Given the description of an element on the screen output the (x, y) to click on. 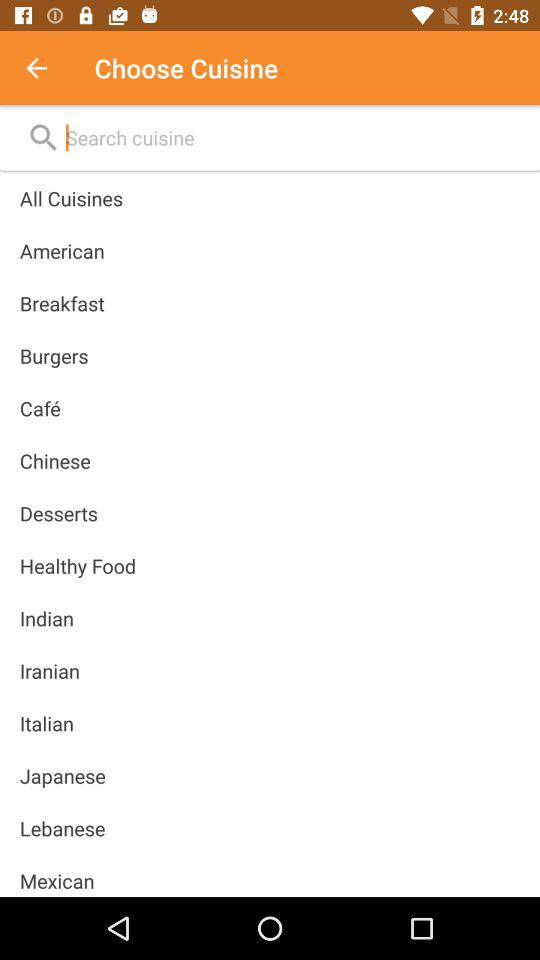
turn on the icon below indian (49, 670)
